Given the description of an element on the screen output the (x, y) to click on. 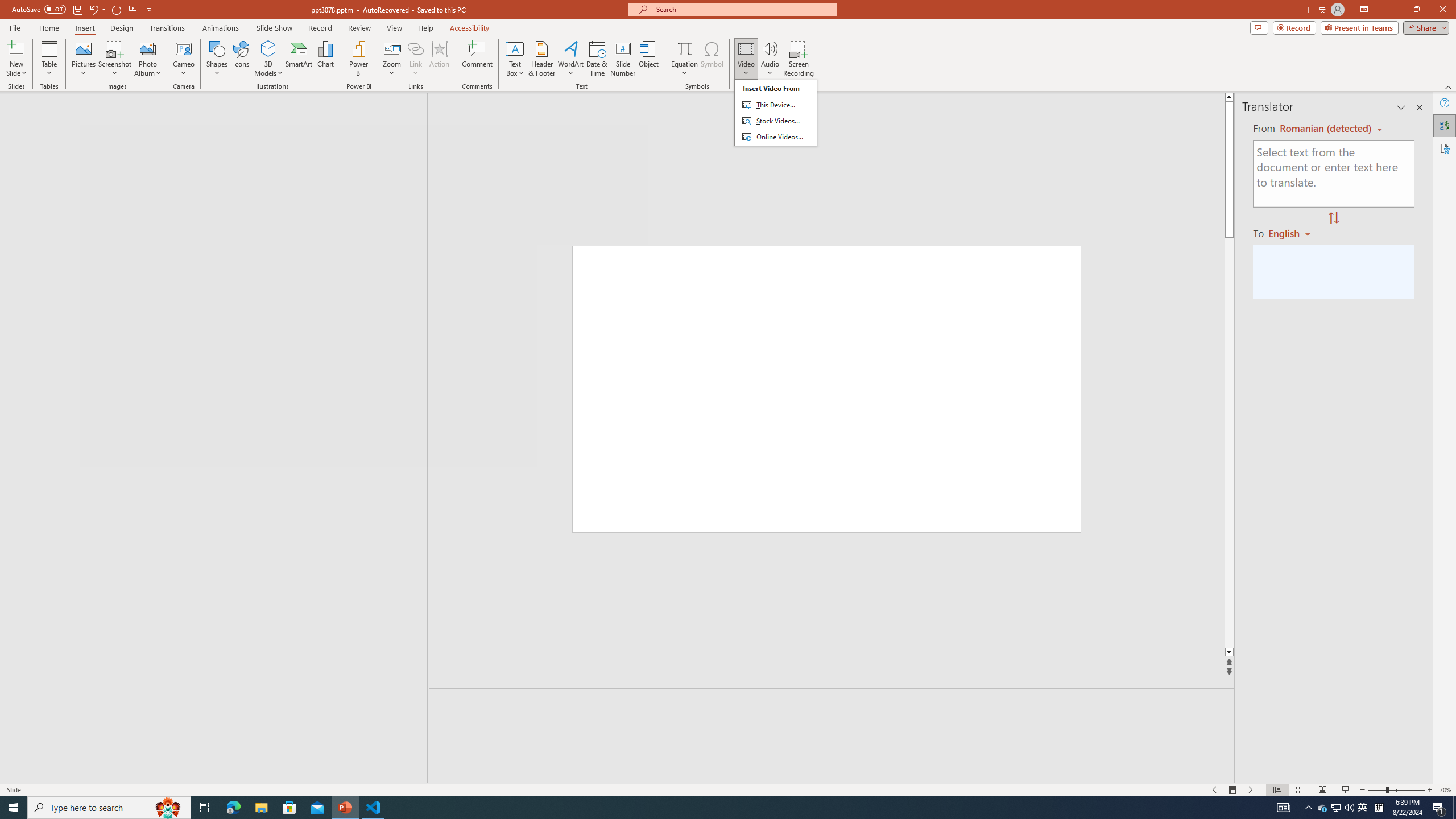
Draw Horizontal Text Box (515, 48)
Date & Time... (1322, 807)
